Given the description of an element on the screen output the (x, y) to click on. 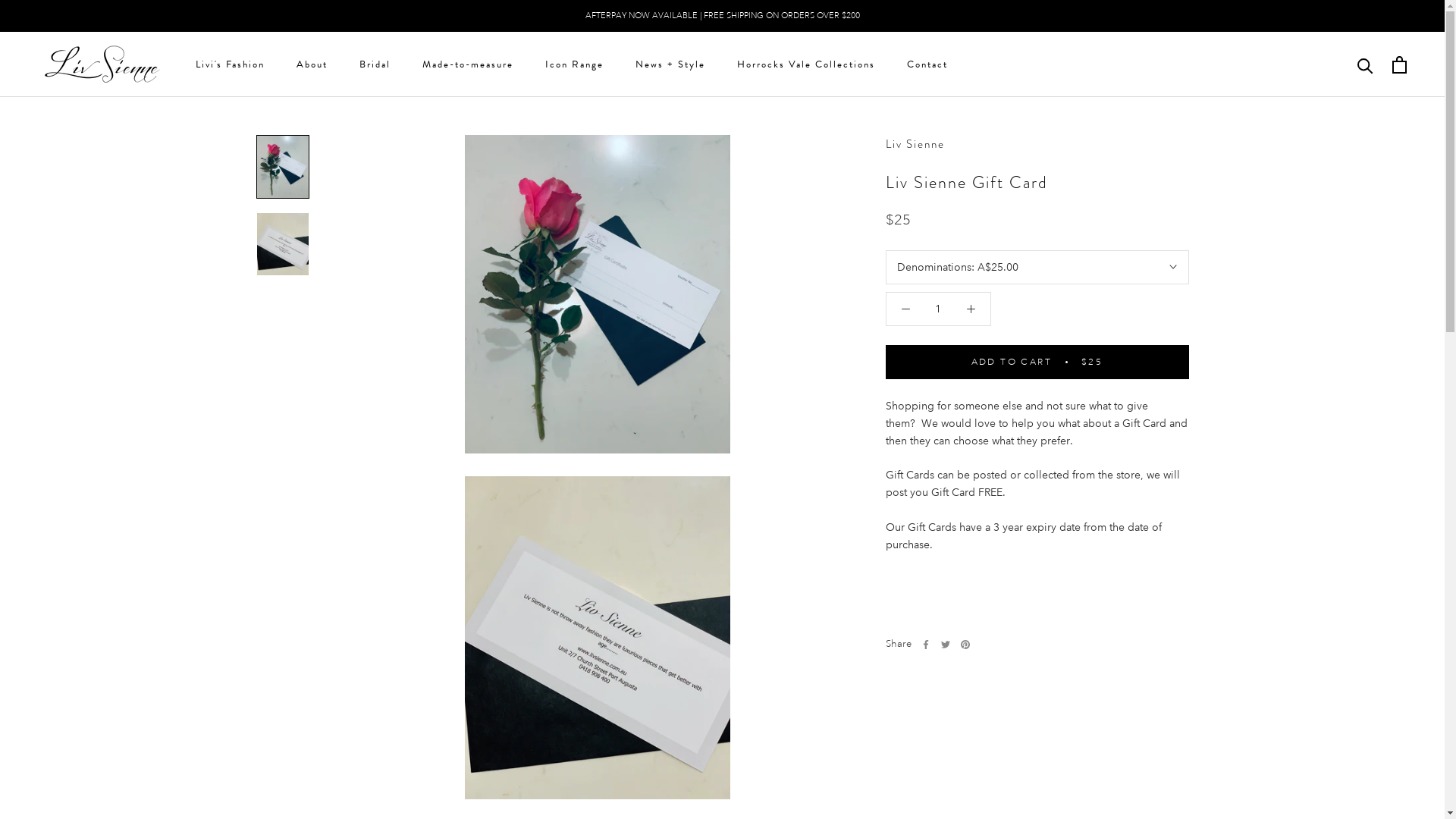
News + Style
News + Style Element type: text (670, 64)
Icon Range
Icon Range Element type: text (574, 64)
Horrocks Vale Collections
Horrocks Vale Collections Element type: text (806, 64)
Contact
Contact Element type: text (926, 64)
Denominations: A$25.00 Element type: text (1037, 267)
AFTERPAY NOW AVAILABLE | FREE SHIPPING ON ORDERS OVER $200 Element type: text (722, 15)
ADD TO CART
$25 Element type: text (1037, 362)
About
About Element type: text (311, 64)
Bridal
Bridal Element type: text (374, 64)
Livi's Fashion Element type: text (229, 64)
Made-to-measure
Made-to-measure Element type: text (467, 64)
